Given the description of an element on the screen output the (x, y) to click on. 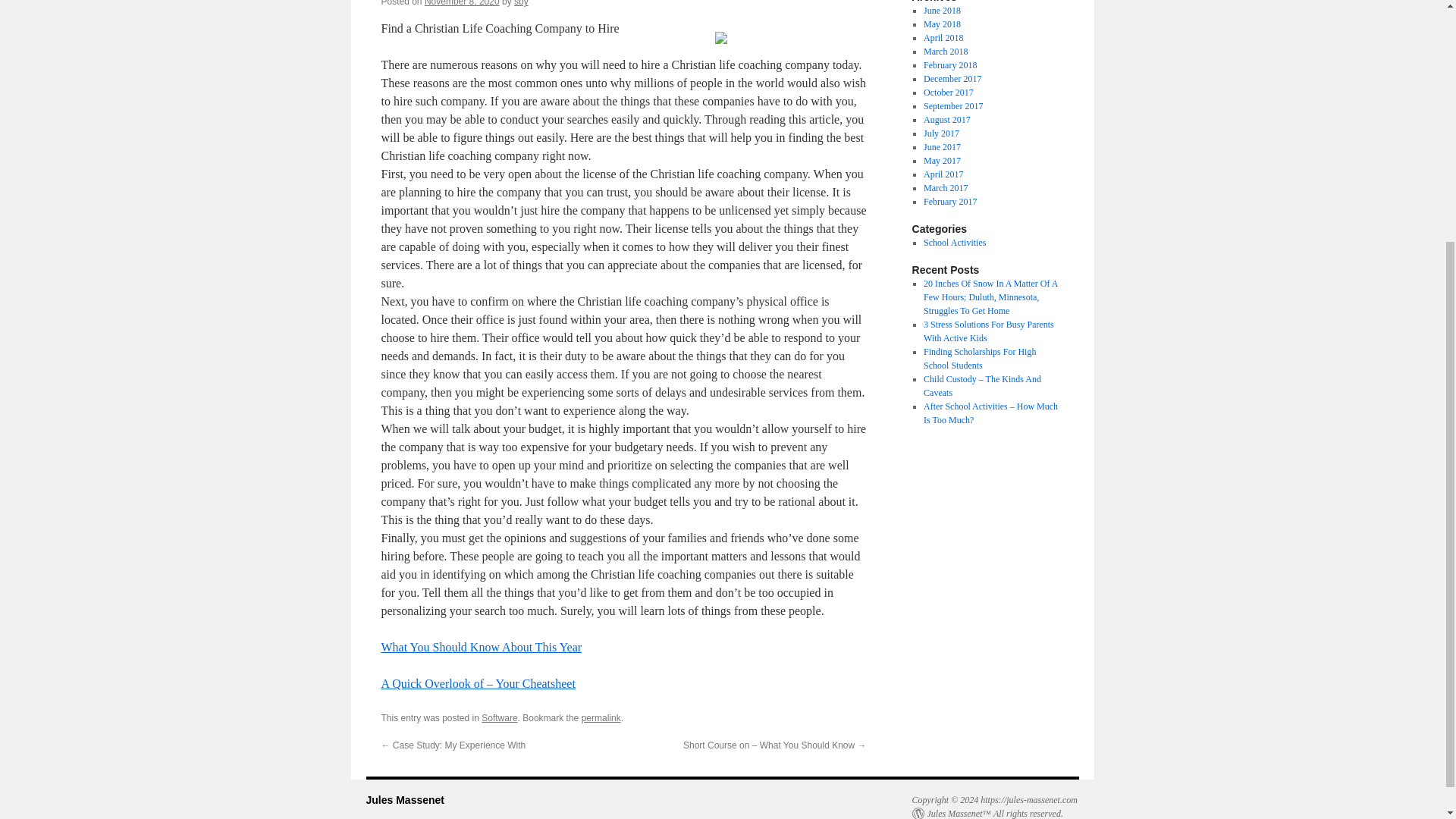
April 2018 (942, 37)
April 2017 (942, 173)
View all posts by sby (520, 3)
May 2017 (941, 160)
Permalink to Tips for The Average Joe (600, 717)
Jules Massenet (404, 799)
March 2017 (945, 187)
February 2017 (949, 201)
July 2017 (941, 132)
3 Stress Solutions For Busy Parents With Active Kids (988, 331)
December 2017 (952, 78)
Software (498, 717)
School Activities (954, 242)
6:52 pm (462, 3)
May 2018 (941, 23)
